Given the description of an element on the screen output the (x, y) to click on. 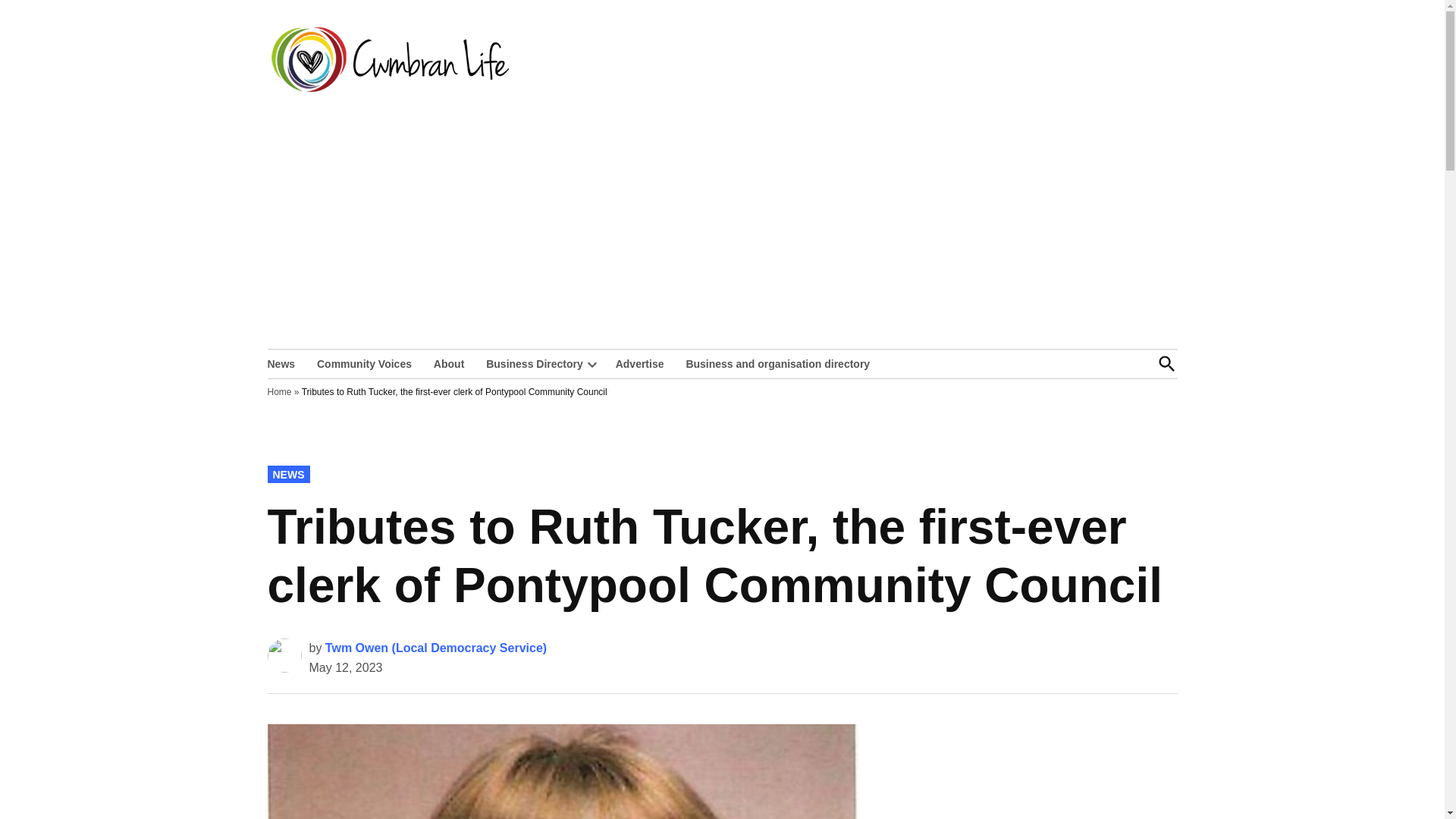
Cwmbranlife (573, 70)
Community Voices (363, 362)
NEWS (287, 474)
Home (278, 391)
Business and organisation directory (777, 362)
News (284, 362)
Business and organisation directory (777, 362)
Open dropdown menu (592, 364)
Business Directory (531, 362)
